Given the description of an element on the screen output the (x, y) to click on. 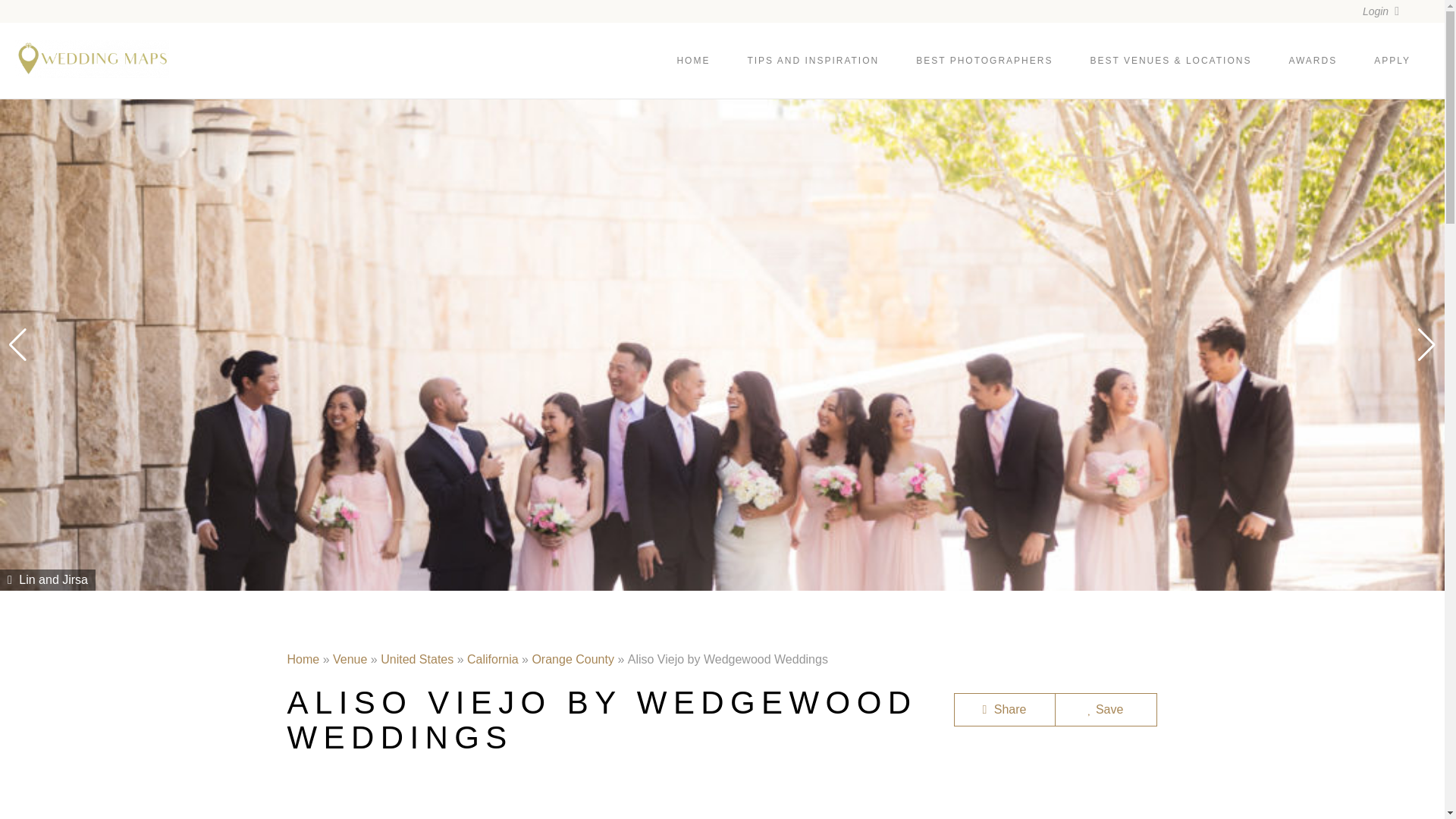
Go to the United States  Location archives. (416, 658)
AWARDS (1312, 60)
Go to the California  Location archives. (492, 658)
BEST PHOTOGRAPHERS (983, 60)
TIPS AND INSPIRATION (812, 60)
Wedding Maps horizontal x (91, 58)
Go to Wedding Maps. (302, 658)
Go to the Orange County  Location archives. (572, 658)
Go to Venue. (349, 658)
HOME (693, 60)
